Given the description of an element on the screen output the (x, y) to click on. 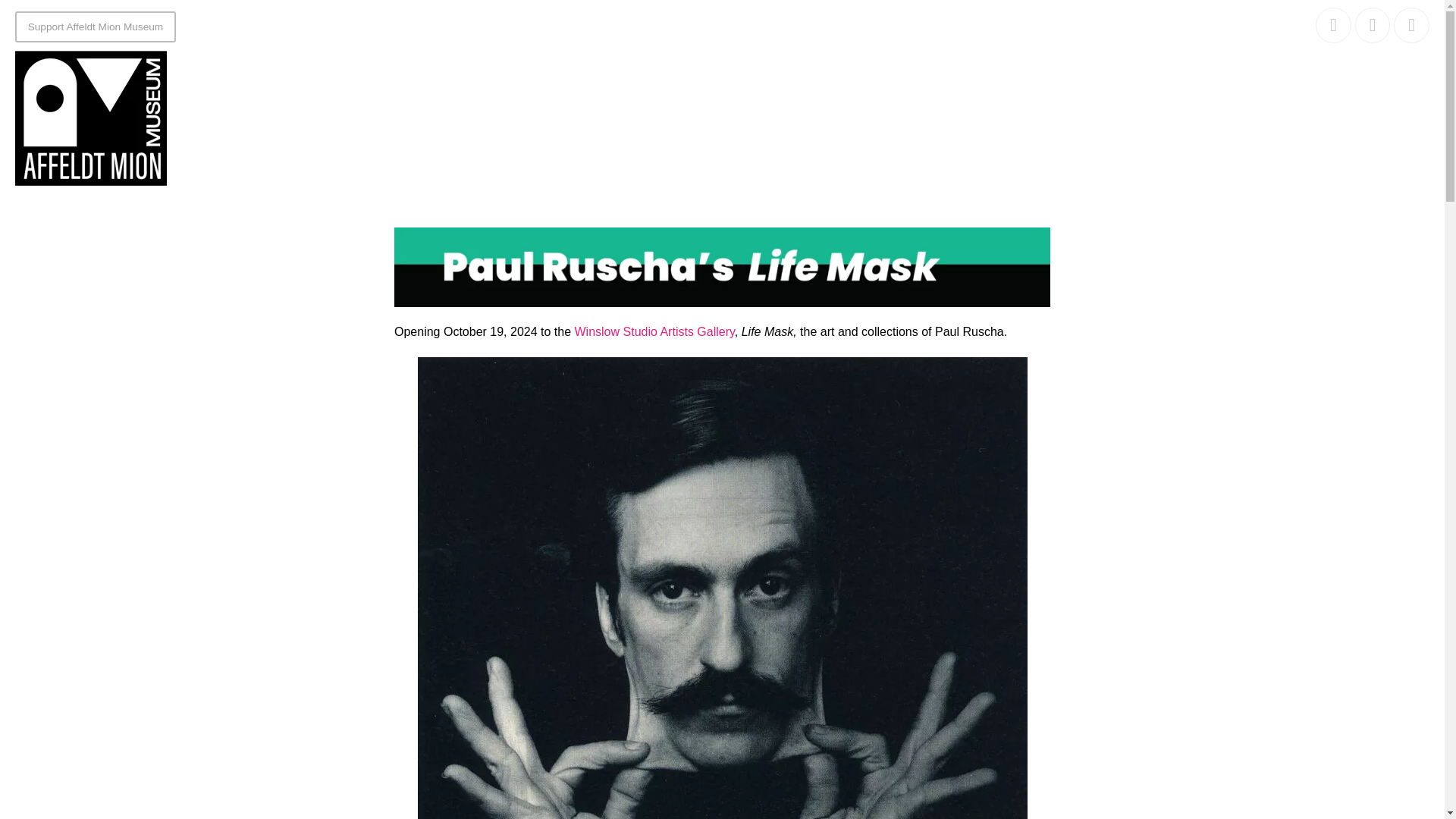
Phone (1411, 25)
Support Affeldt Mion Museum (95, 26)
Help support the museum today! (95, 26)
Instagram (1372, 25)
Facebook (1333, 25)
Winslow Studio Artists Gallery (655, 331)
